Given the description of an element on the screen output the (x, y) to click on. 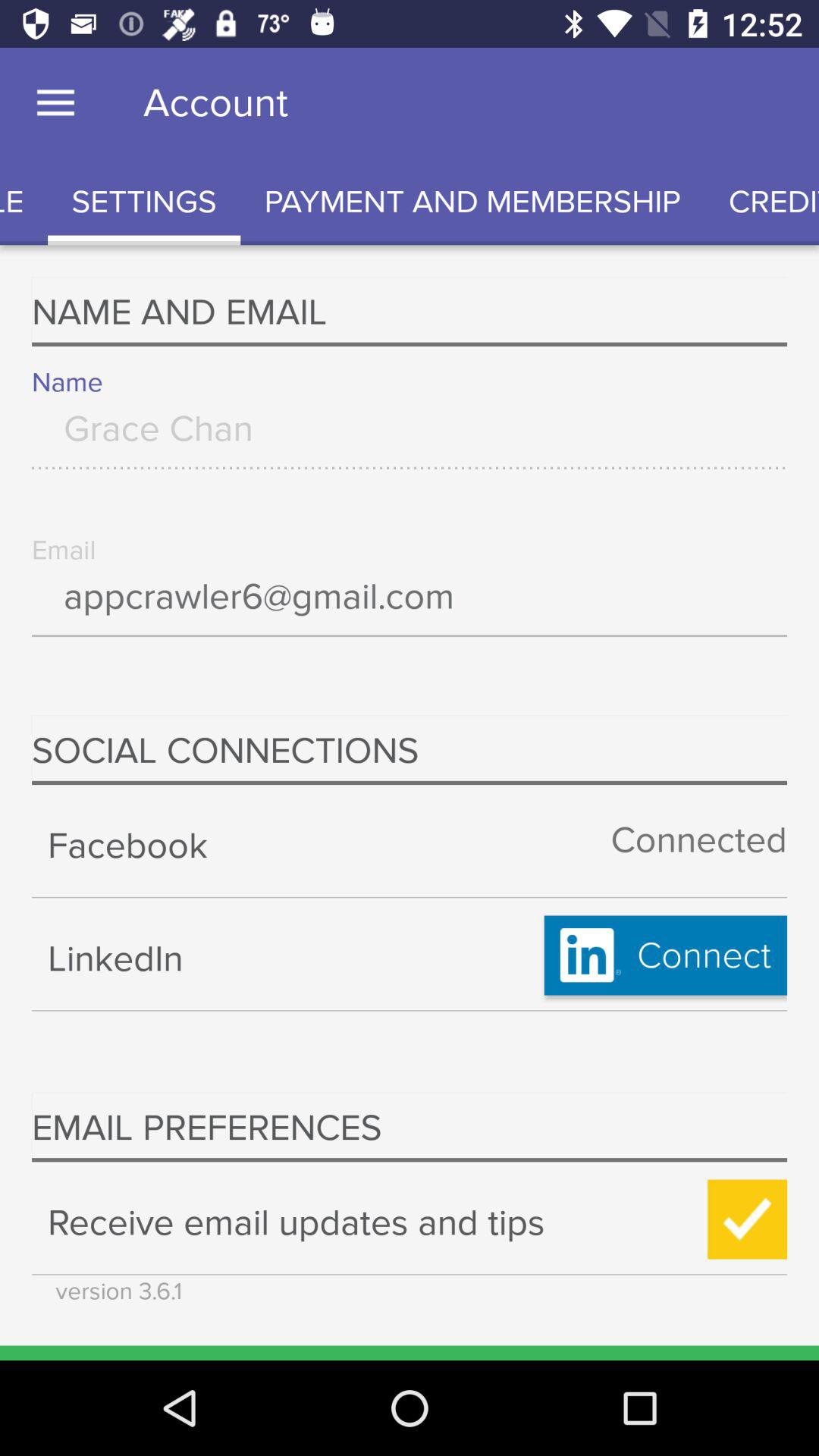
select to receive updates (747, 1219)
